Given the description of an element on the screen output the (x, y) to click on. 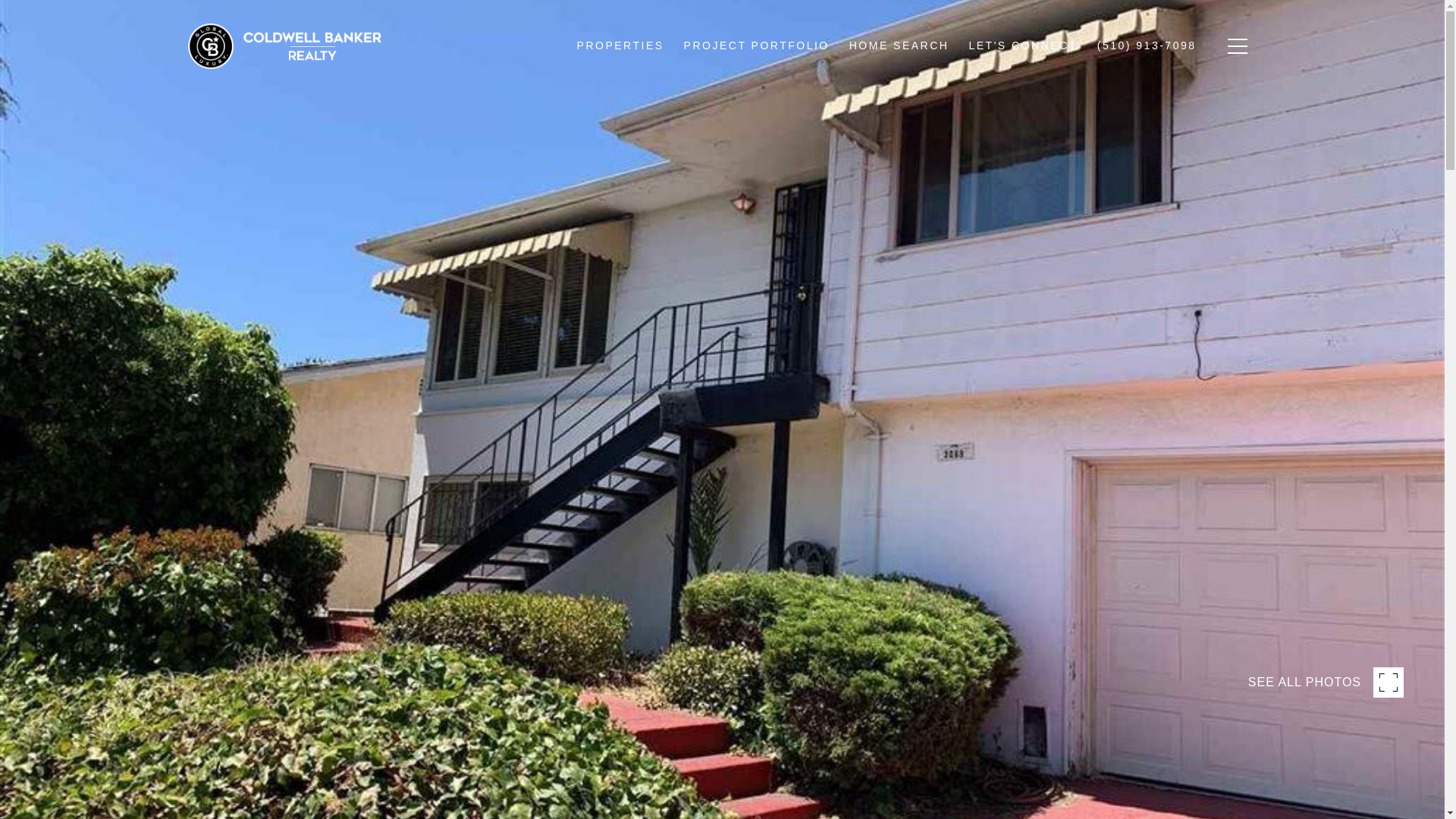
PROJECT PORTFOLIO (757, 45)
LET'S CONNECT (1022, 45)
PROPERTIES (620, 45)
HOME SEARCH (899, 45)
